Given the description of an element on the screen output the (x, y) to click on. 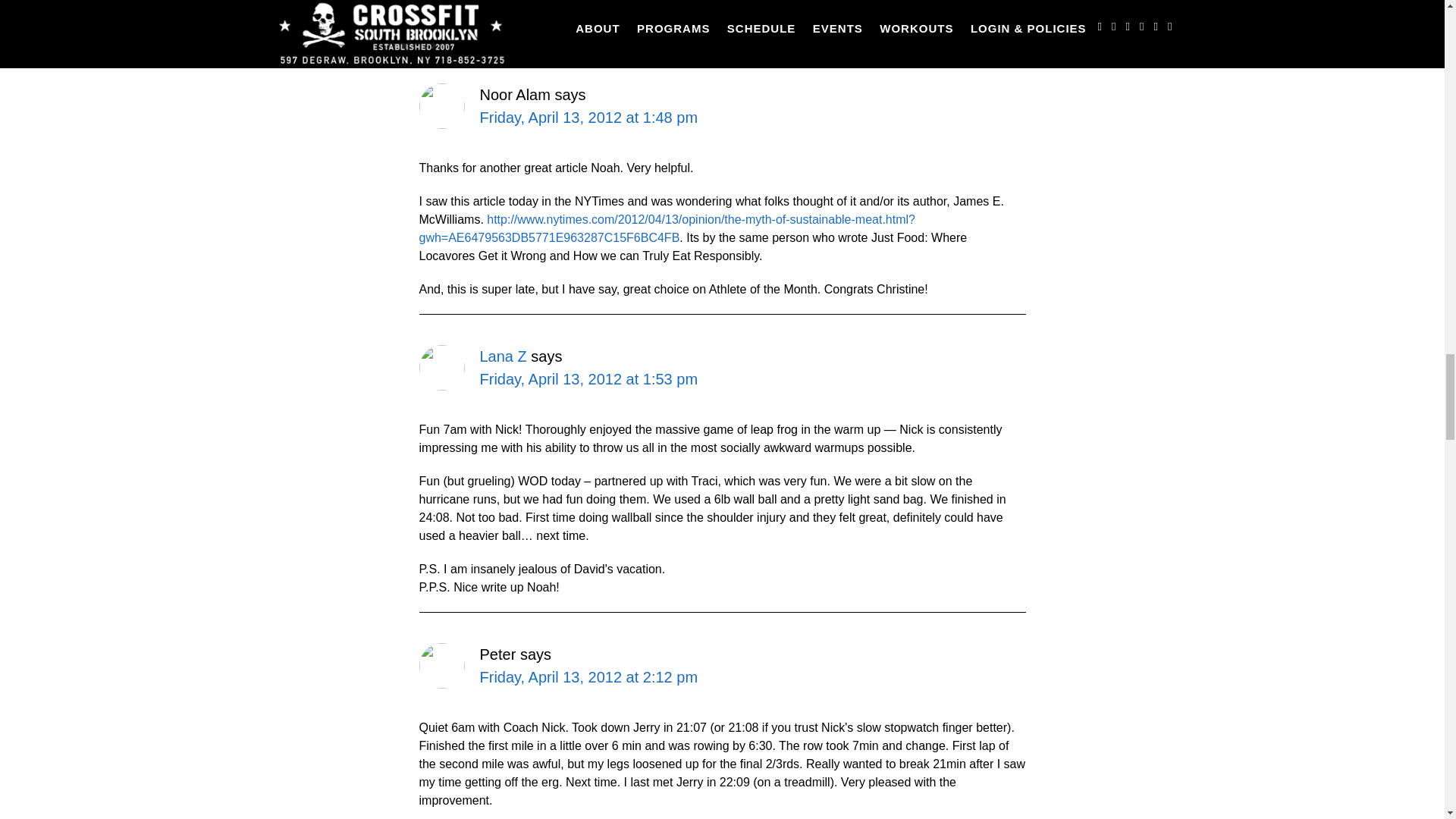
Lana Z (502, 356)
Friday, April 13, 2012 at 1:48 pm (588, 117)
Friday, April 13, 2012 at 1:53 pm (588, 379)
